Given the description of an element on the screen output the (x, y) to click on. 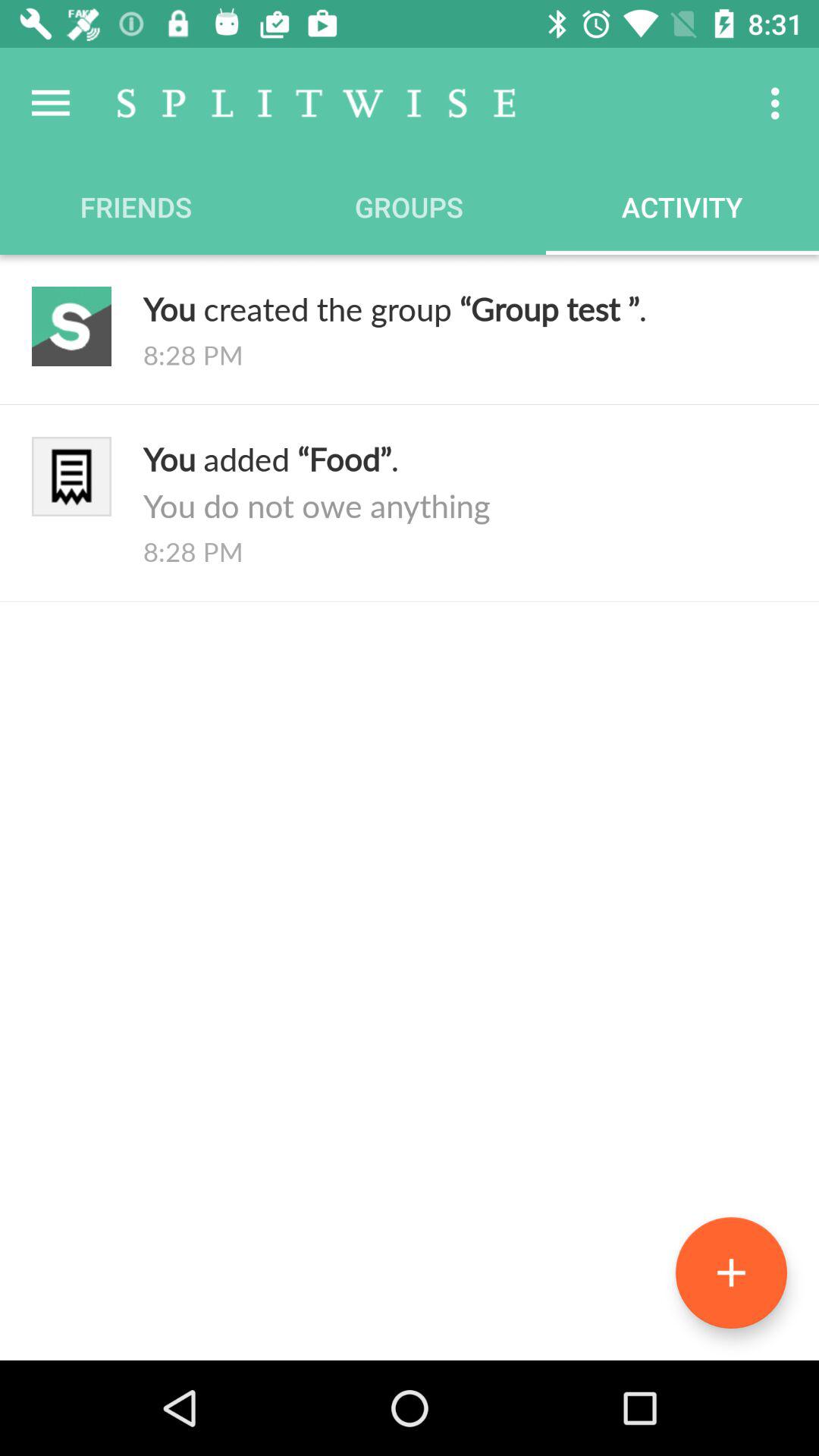
turn on the item at the bottom right corner (731, 1272)
